Given the description of an element on the screen output the (x, y) to click on. 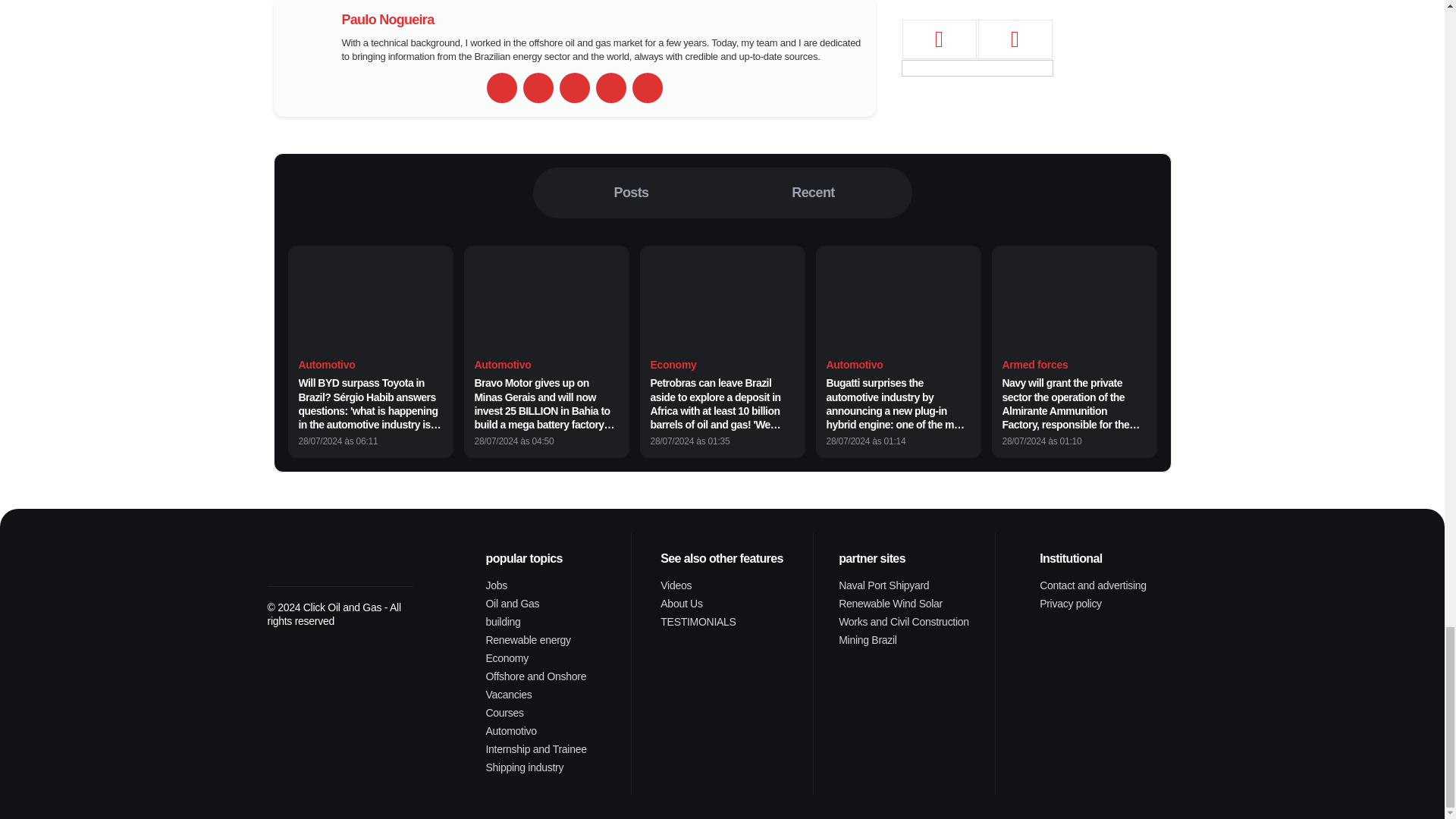
linkedin (610, 87)
Instagram (646, 87)
Twitter (574, 87)
url (501, 87)
Facebook (537, 87)
